Given the description of an element on the screen output the (x, y) to click on. 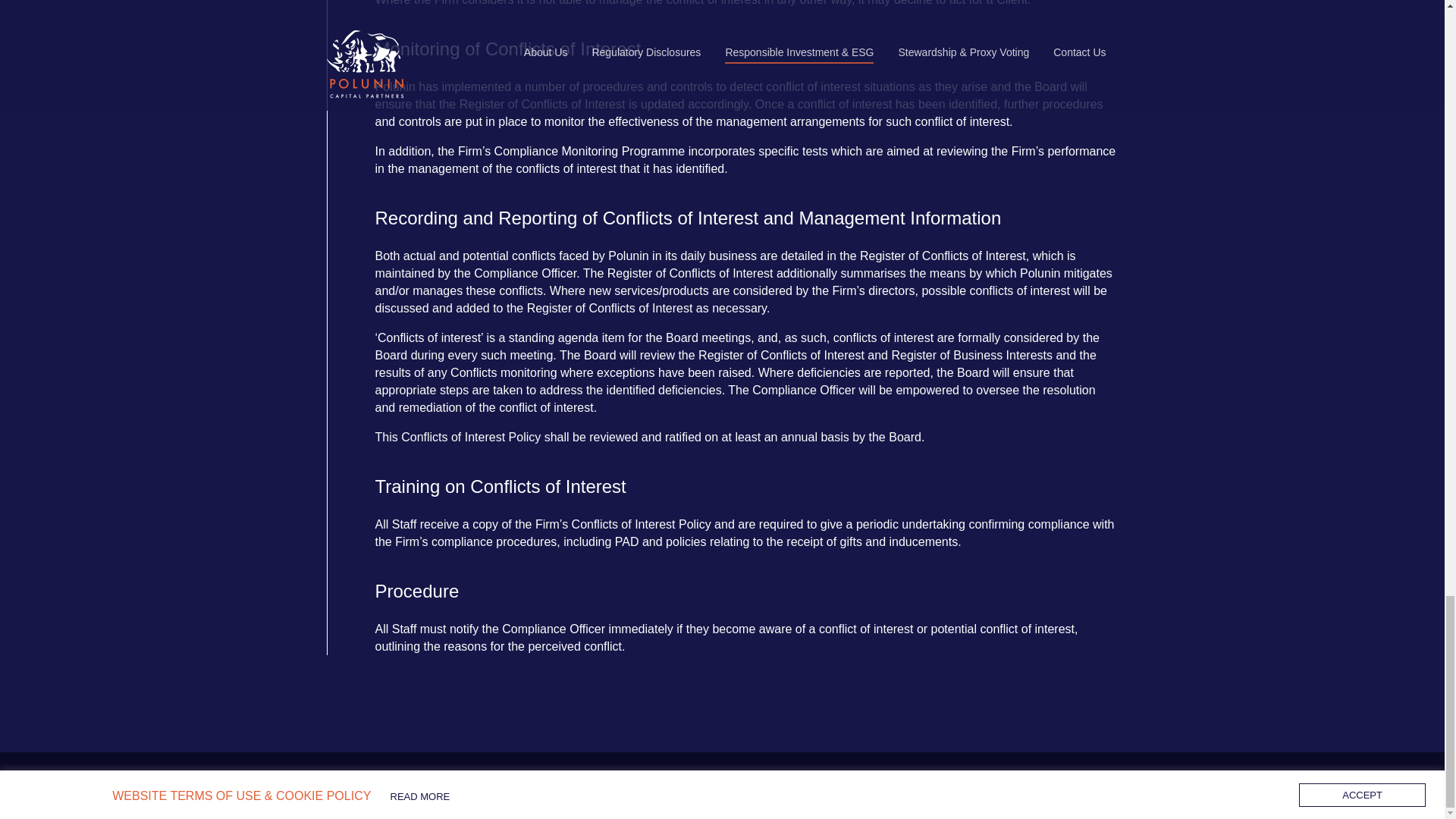
Website Terms of Use and Cookie Policy (911, 785)
